Given the description of an element on the screen output the (x, y) to click on. 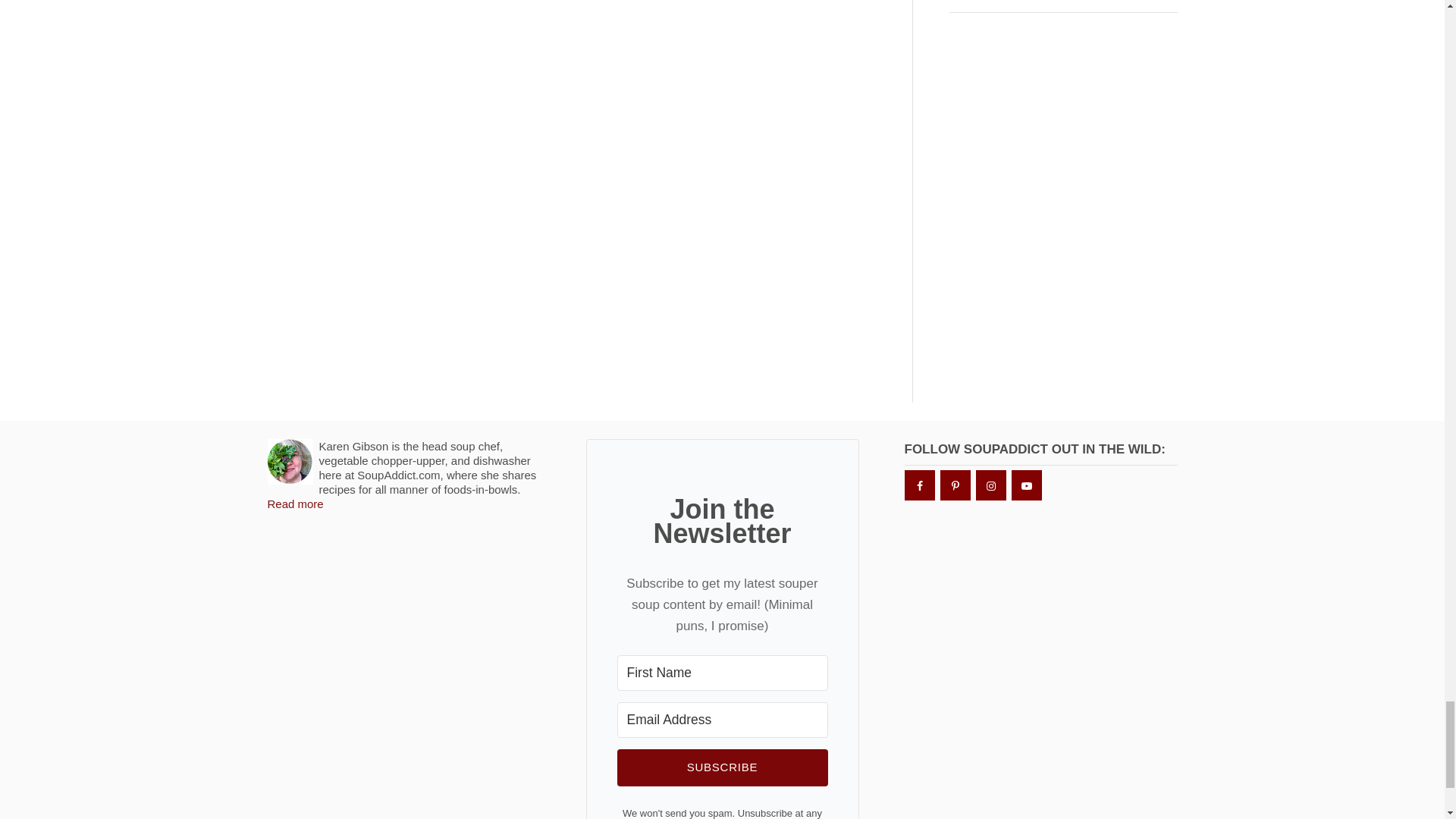
Follow on Facebook (919, 485)
